Given the description of an element on the screen output the (x, y) to click on. 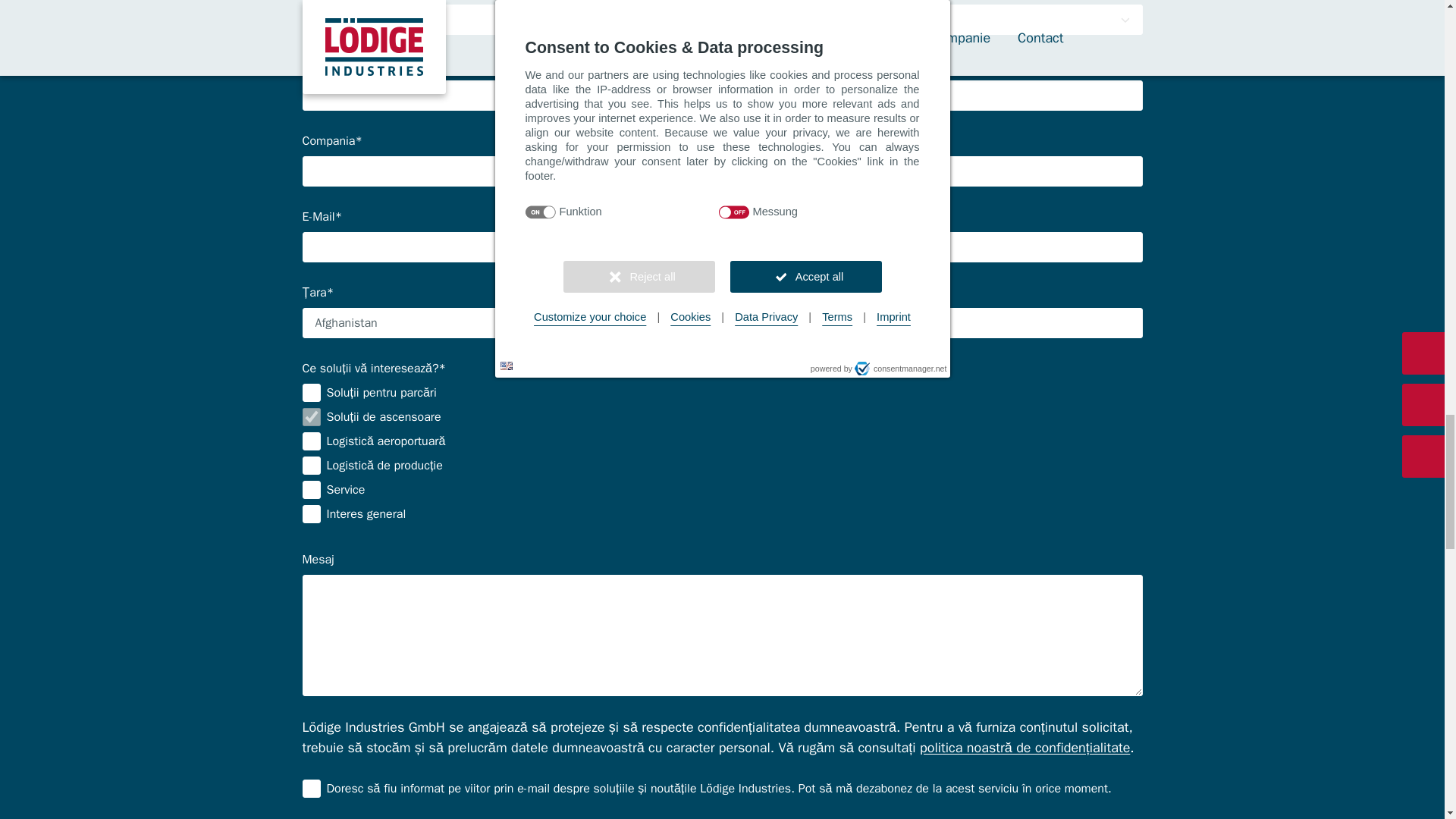
Production Logistics (310, 465)
Parking Solutions (310, 393)
Airport Logistics (310, 441)
Service (310, 489)
true (310, 788)
General Interest (310, 514)
Lift Solutions (310, 416)
